Given the description of an element on the screen output the (x, y) to click on. 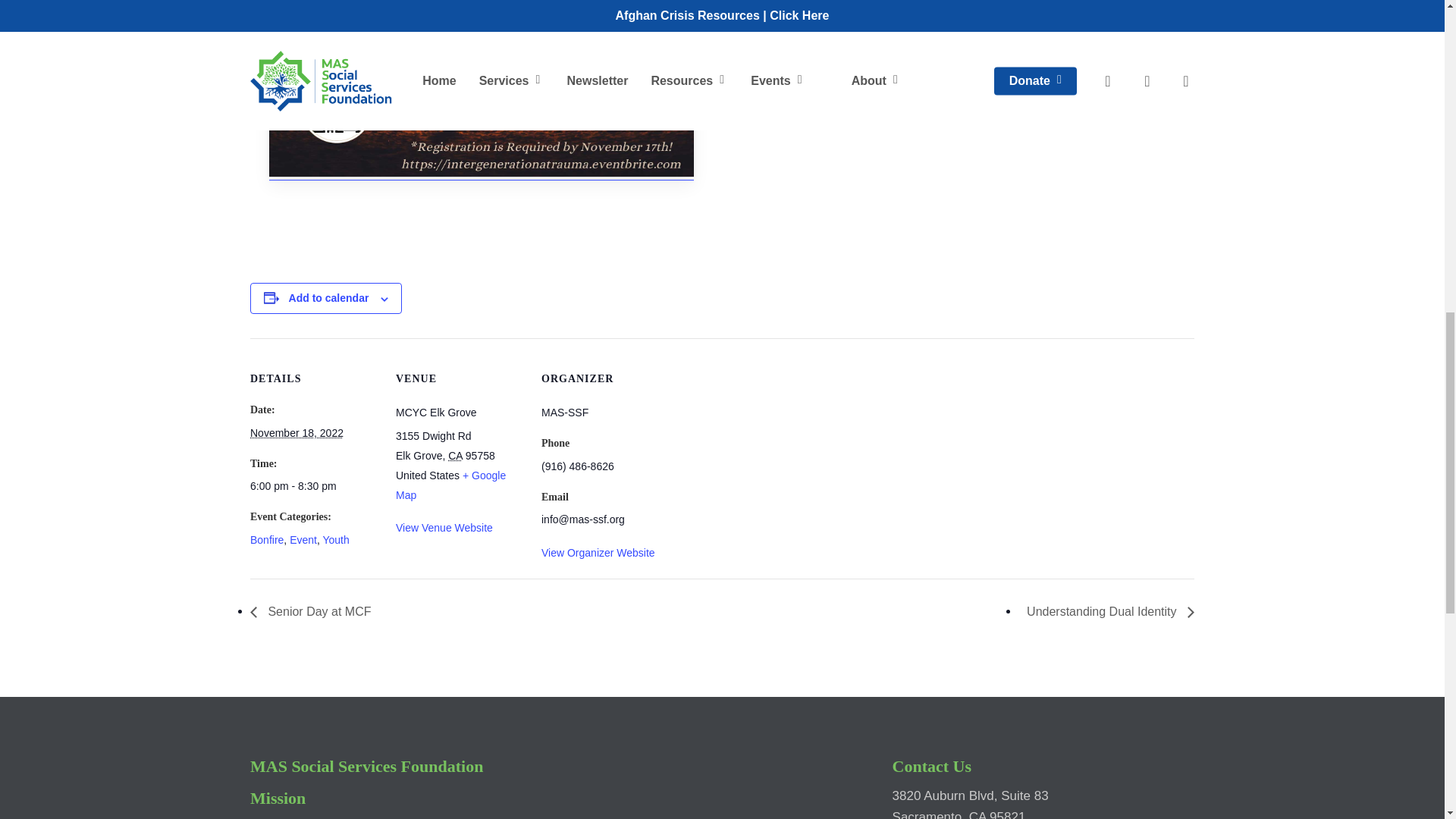
Click to view a Google Map (450, 485)
2022-11-18 (296, 432)
California (455, 455)
2022-11-18 (313, 485)
